Given the description of an element on the screen output the (x, y) to click on. 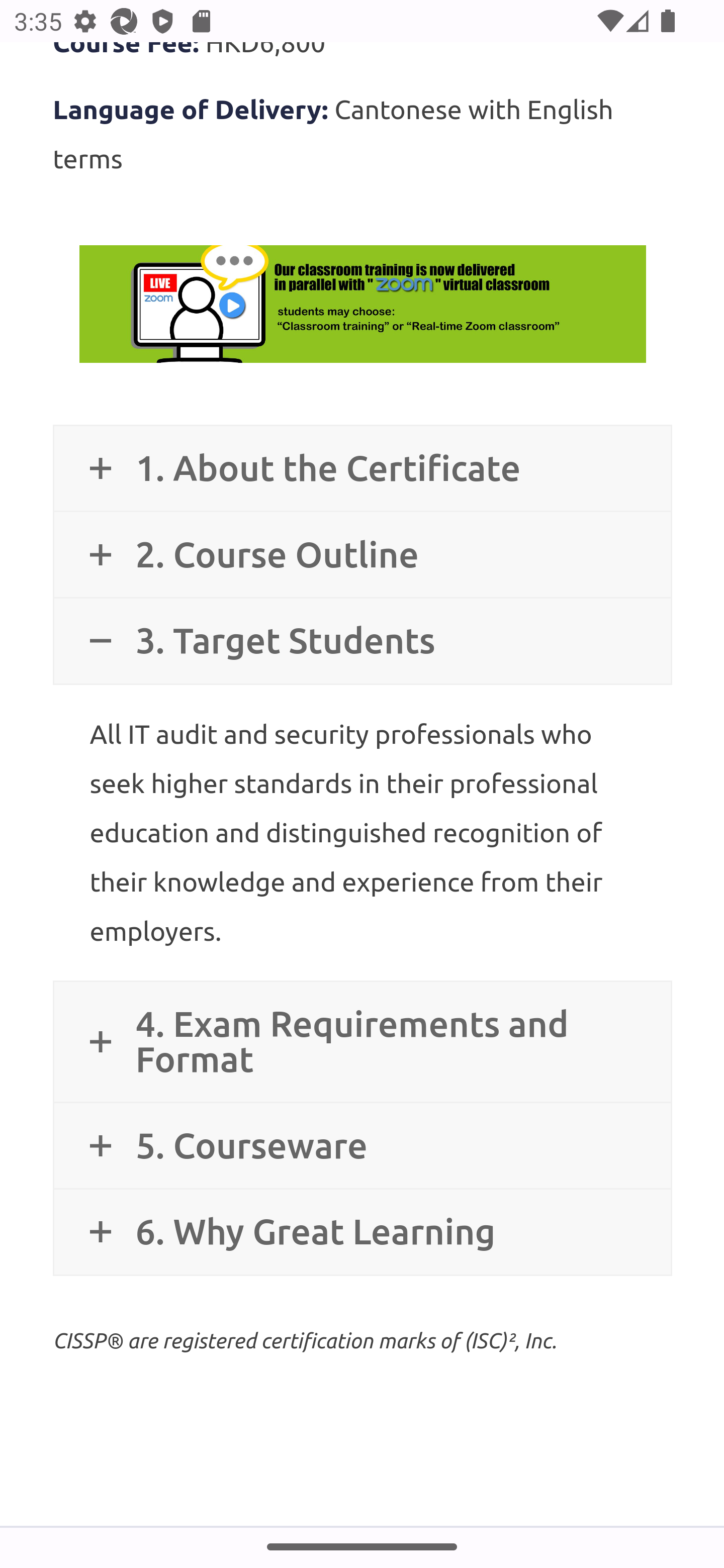
5. Courseware 5. Courseware 5. Courseware (361, 1145)
